Given the description of an element on the screen output the (x, y) to click on. 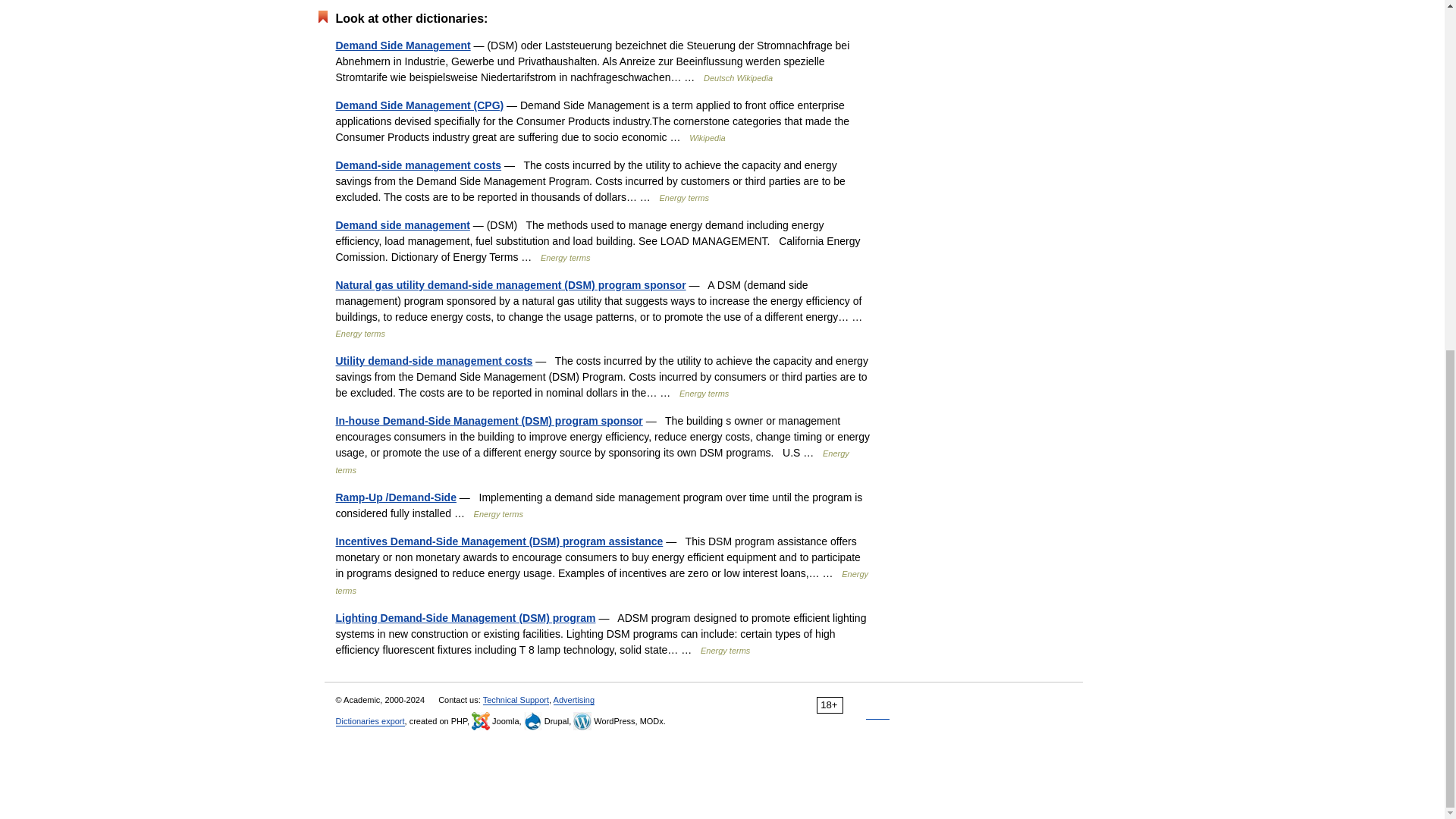
LiveInternet (877, 705)
Utility demand-side management costs (433, 360)
Technical Support (515, 700)
Demand Side Management (402, 45)
Demand-side management costs (417, 164)
Demand side management (401, 224)
Advertising (573, 700)
Dictionaries export (369, 721)
